Given the description of an element on the screen output the (x, y) to click on. 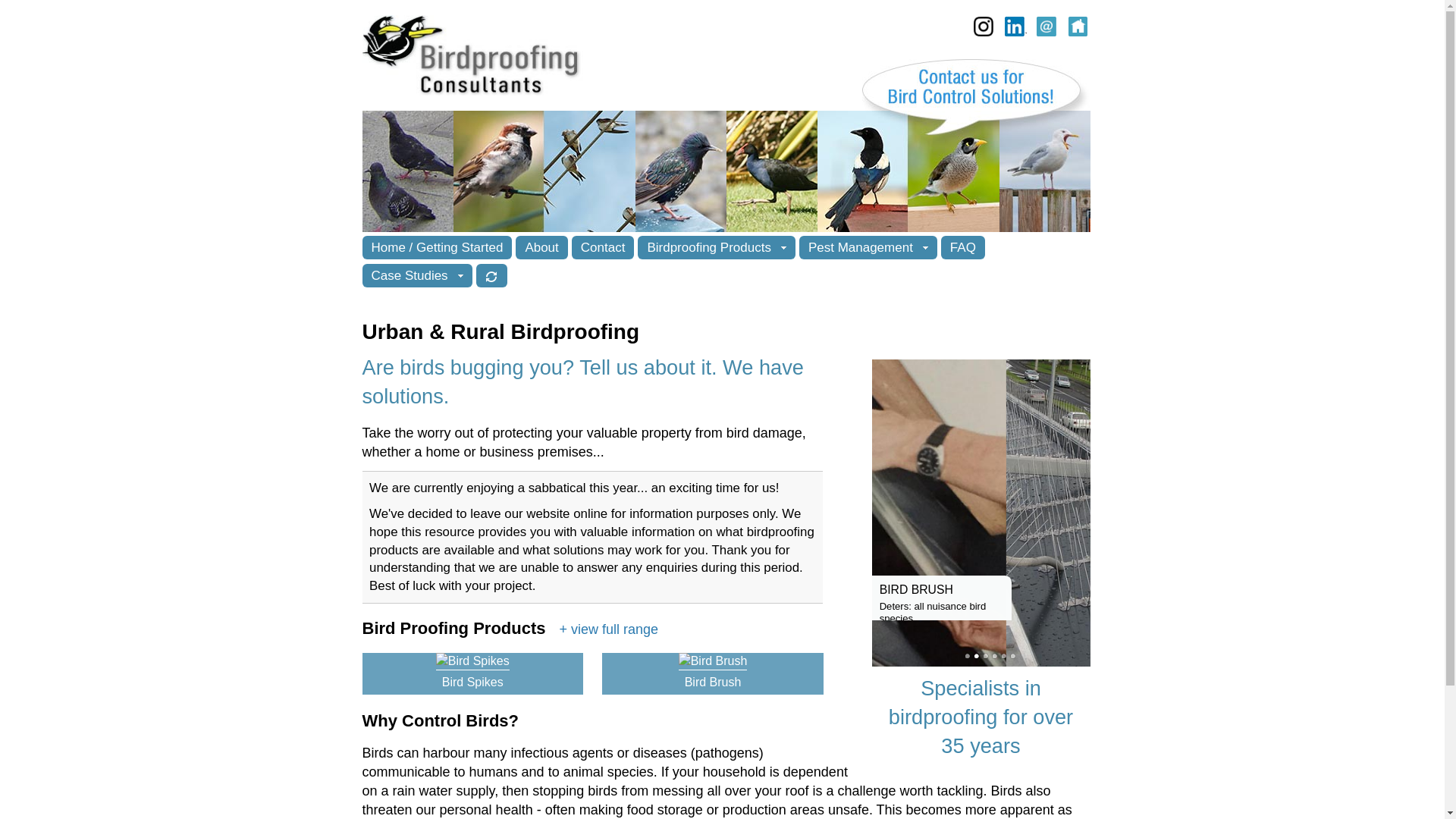
Birdproofing Products (715, 247)
Bird Wire (1004, 655)
Contact (603, 247)
Case Study (1013, 655)
Bird Spikes (967, 655)
About (541, 247)
FAQ (962, 247)
Bird Netting (985, 655)
Pest Management (868, 247)
Case Studies (416, 275)
